Given the description of an element on the screen output the (x, y) to click on. 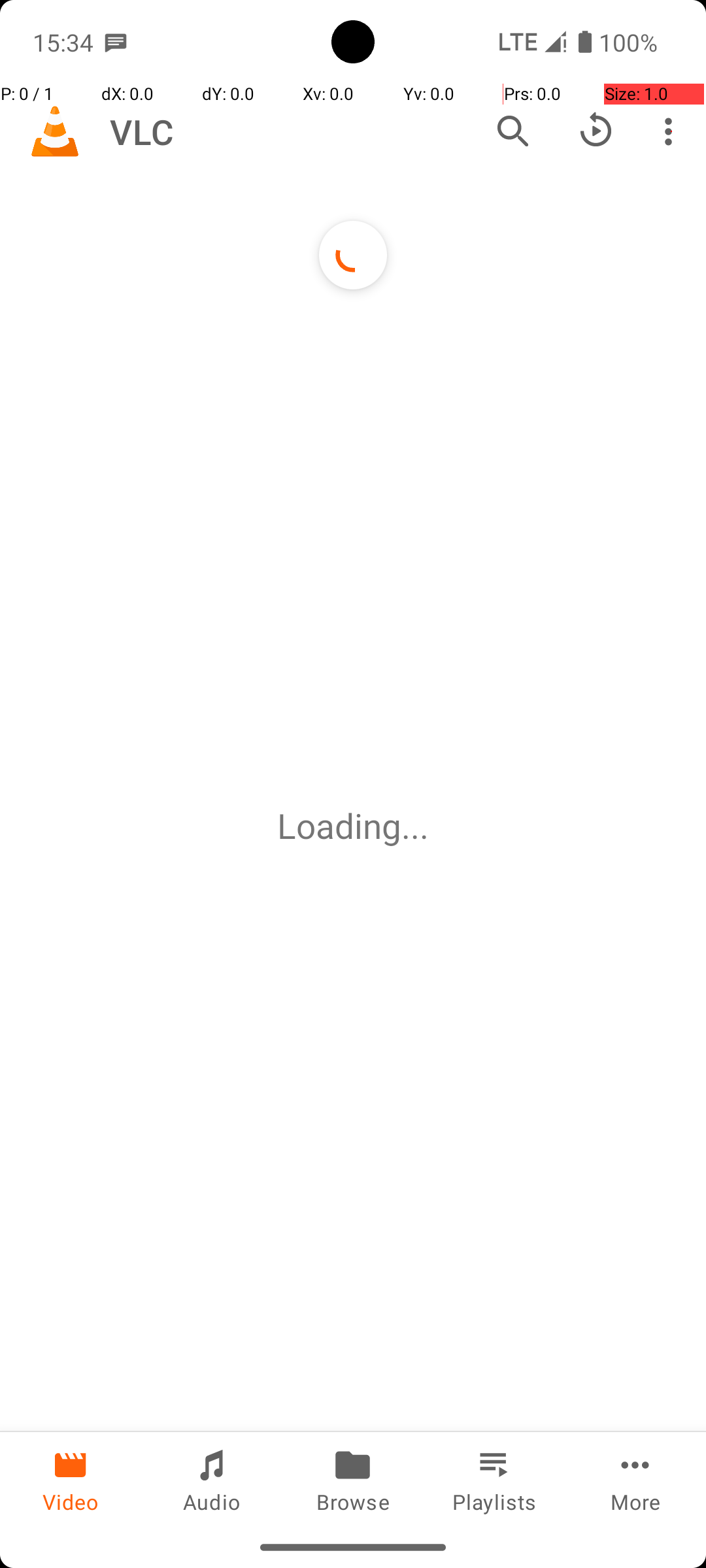
Resume playback Element type: android.widget.TextView (595, 131)
... Element type: android.widget.TextView (414, 825)
